Given the description of an element on the screen output the (x, y) to click on. 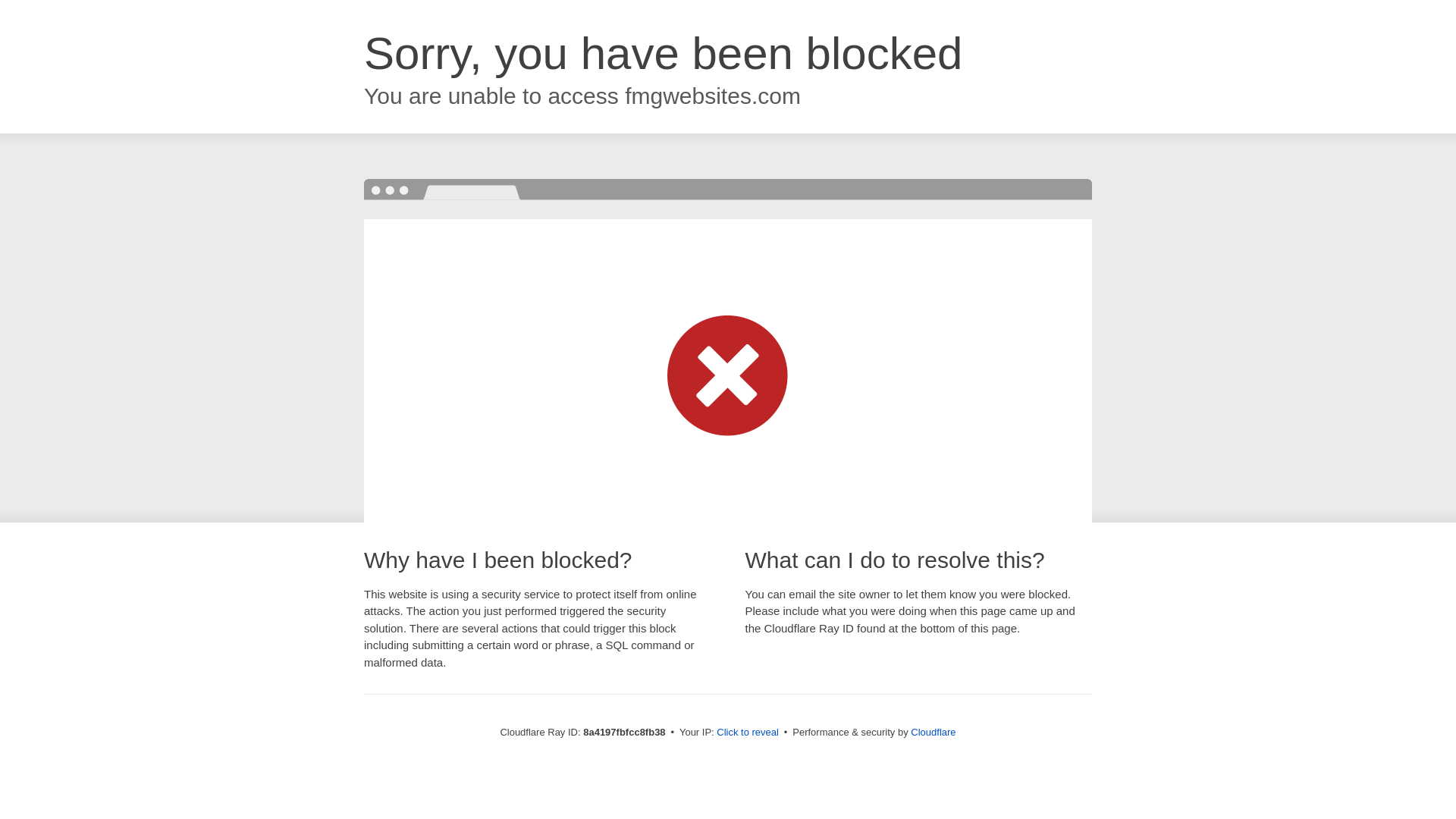
Click to reveal (747, 732)
Cloudflare (933, 731)
